Given the description of an element on the screen output the (x, y) to click on. 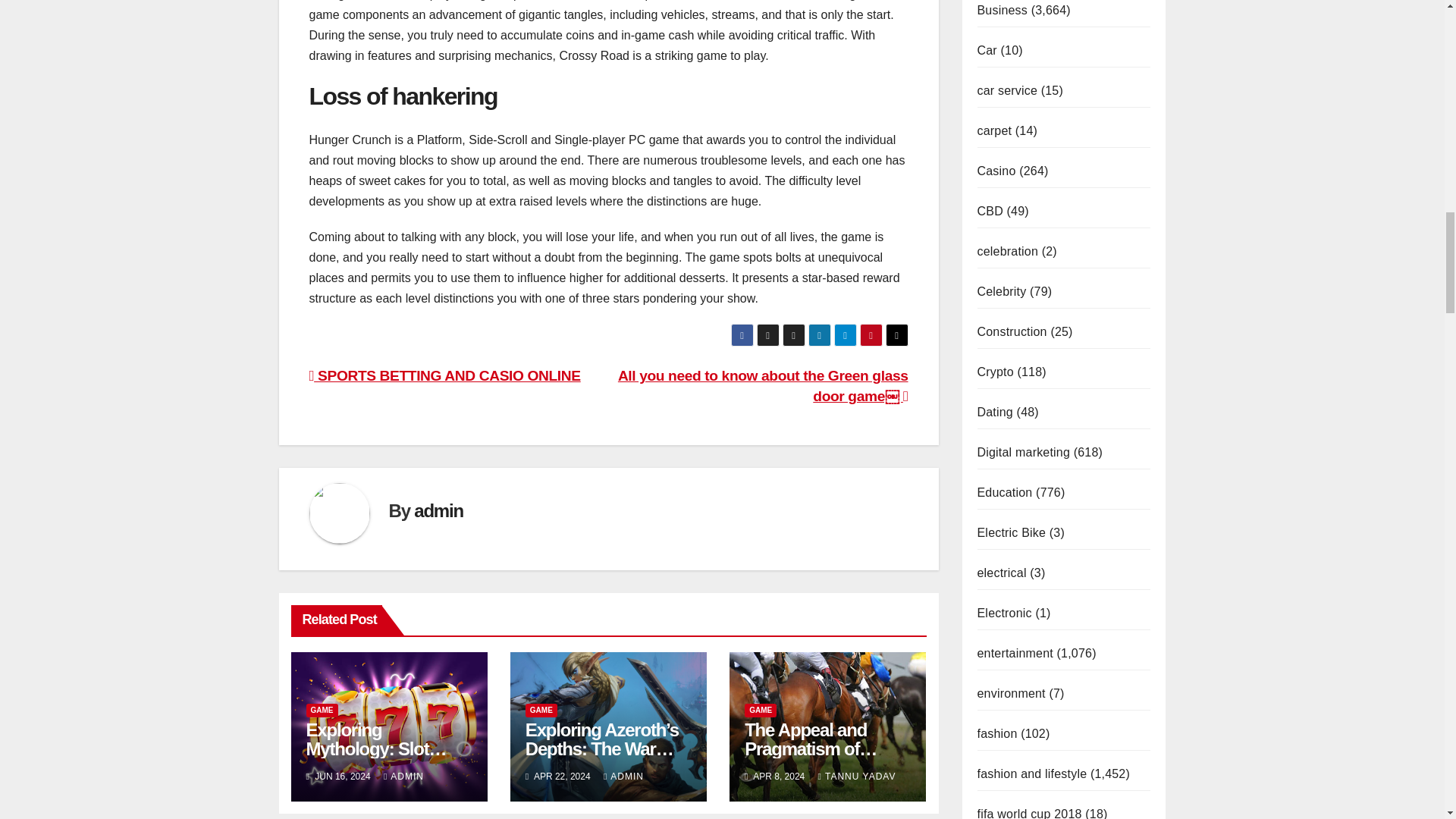
GAME (321, 710)
admin (438, 510)
SPORTS BETTING AND CASIO ONLINE (444, 375)
GAME (541, 710)
ADMIN (403, 776)
Exploring Mythology: Slot Games Inspired by Ancient Legends (378, 757)
